Given the description of an element on the screen output the (x, y) to click on. 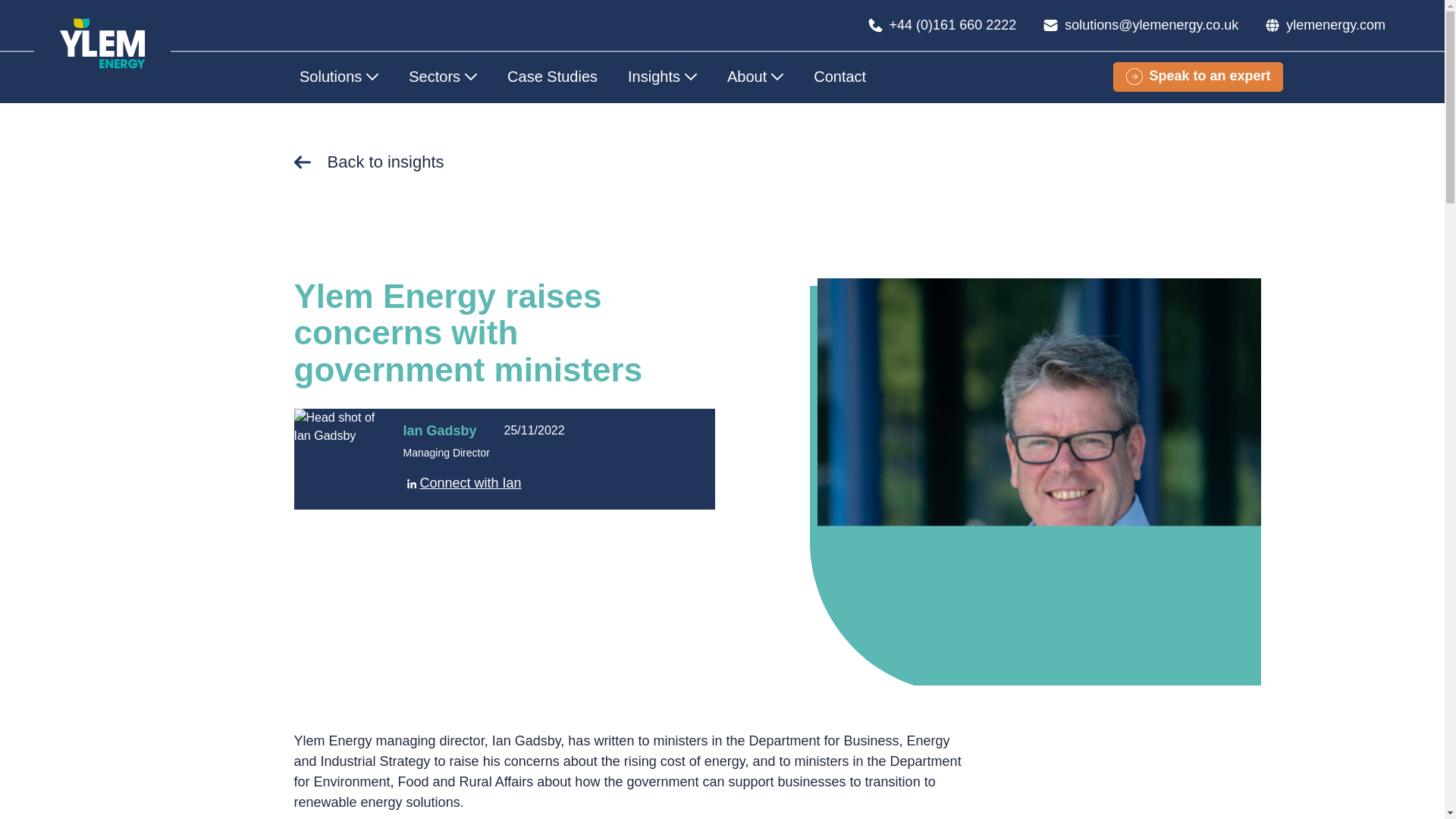
Sectors (442, 76)
Solutions (346, 76)
Insights (661, 76)
Case Studies (552, 76)
About (754, 76)
ylemenergy.com (1325, 24)
